Given the description of an element on the screen output the (x, y) to click on. 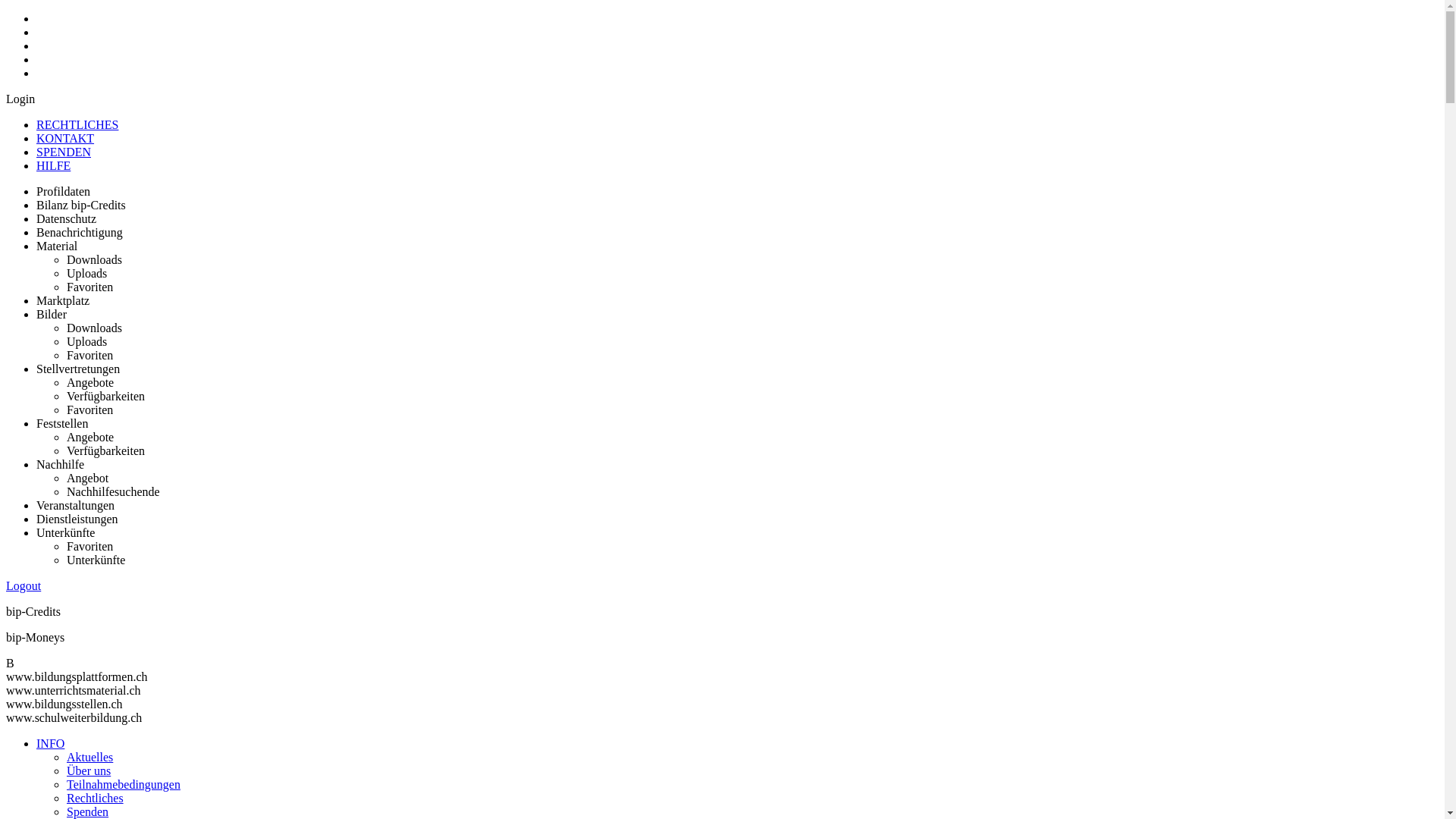
Datenschutz Element type: text (66, 218)
Dienstleistungen Element type: text (77, 518)
Stellvertretungen Element type: text (77, 368)
Logout Element type: text (23, 585)
KONTAKT Element type: text (65, 137)
Login Element type: text (20, 98)
Uploads Element type: text (86, 341)
Downloads Element type: text (94, 259)
Bilanz bip-Credits Element type: text (80, 204)
RECHTLICHES Element type: text (77, 124)
Benachrichtigung Element type: text (79, 231)
Feststellen Element type: text (61, 423)
Favoriten Element type: text (89, 545)
Teilnahmebedingungen Element type: text (123, 784)
Angebot Element type: text (87, 477)
INFO Element type: text (50, 743)
Uploads Element type: text (86, 272)
Nachhilfe Element type: text (60, 464)
Angebote Element type: text (89, 436)
Profildaten Element type: text (63, 191)
Favoriten Element type: text (89, 409)
Angebote Element type: text (89, 382)
Marktplatz Element type: text (62, 300)
HILFE Element type: text (53, 165)
Material Element type: text (56, 245)
Aktuelles Element type: text (89, 756)
Favoriten Element type: text (89, 354)
Veranstaltungen Element type: text (75, 504)
Favoriten Element type: text (89, 286)
Spenden Element type: text (87, 811)
SPENDEN Element type: text (63, 151)
Nachhilfesuchende Element type: text (113, 491)
Rechtliches Element type: text (94, 797)
Bilder Element type: text (51, 313)
Downloads Element type: text (94, 327)
